Given the description of an element on the screen output the (x, y) to click on. 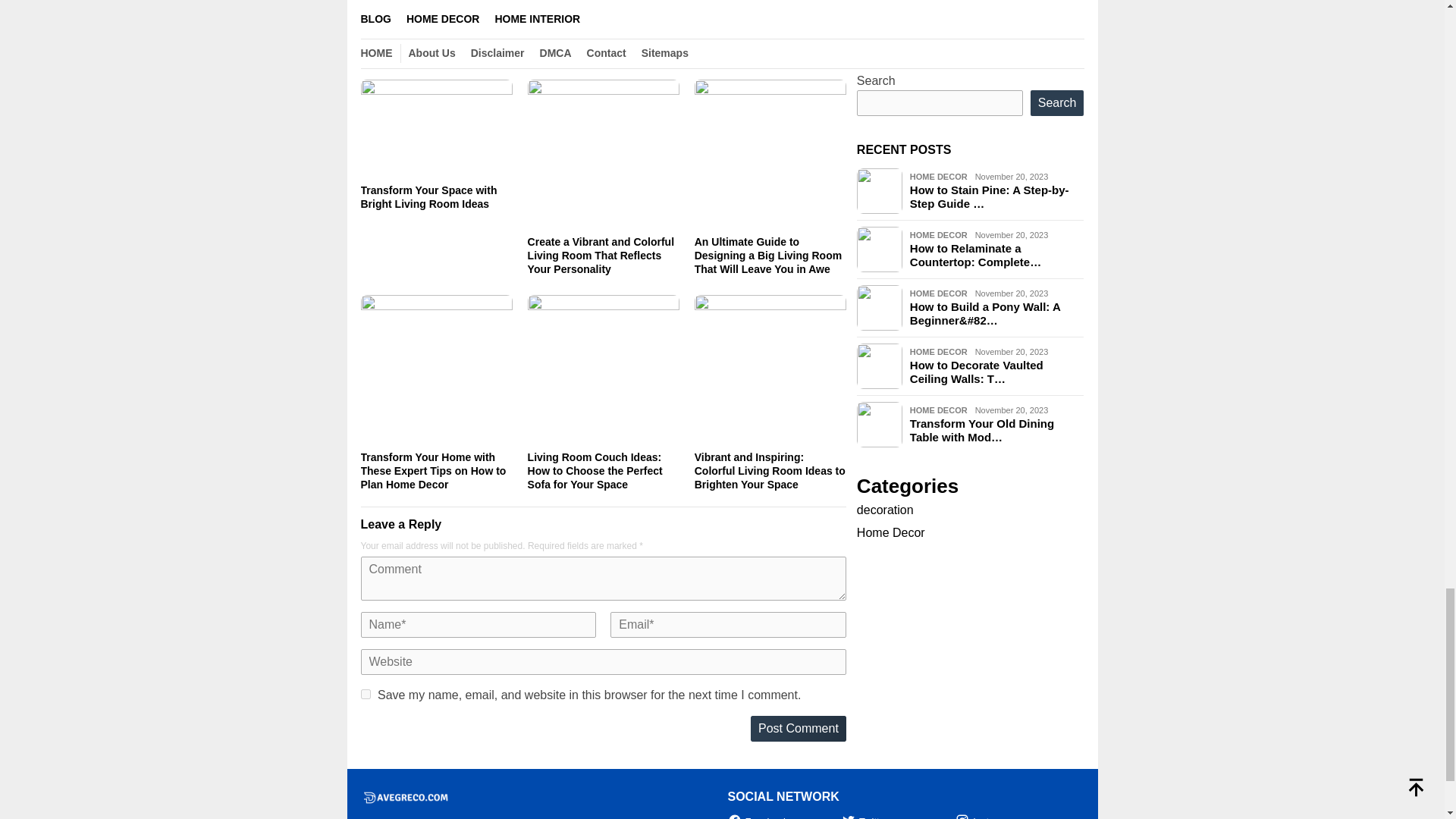
yes (366, 694)
Post Comment (798, 728)
Transform Your Space with Bright Living Room Ideas (429, 196)
